Given the description of an element on the screen output the (x, y) to click on. 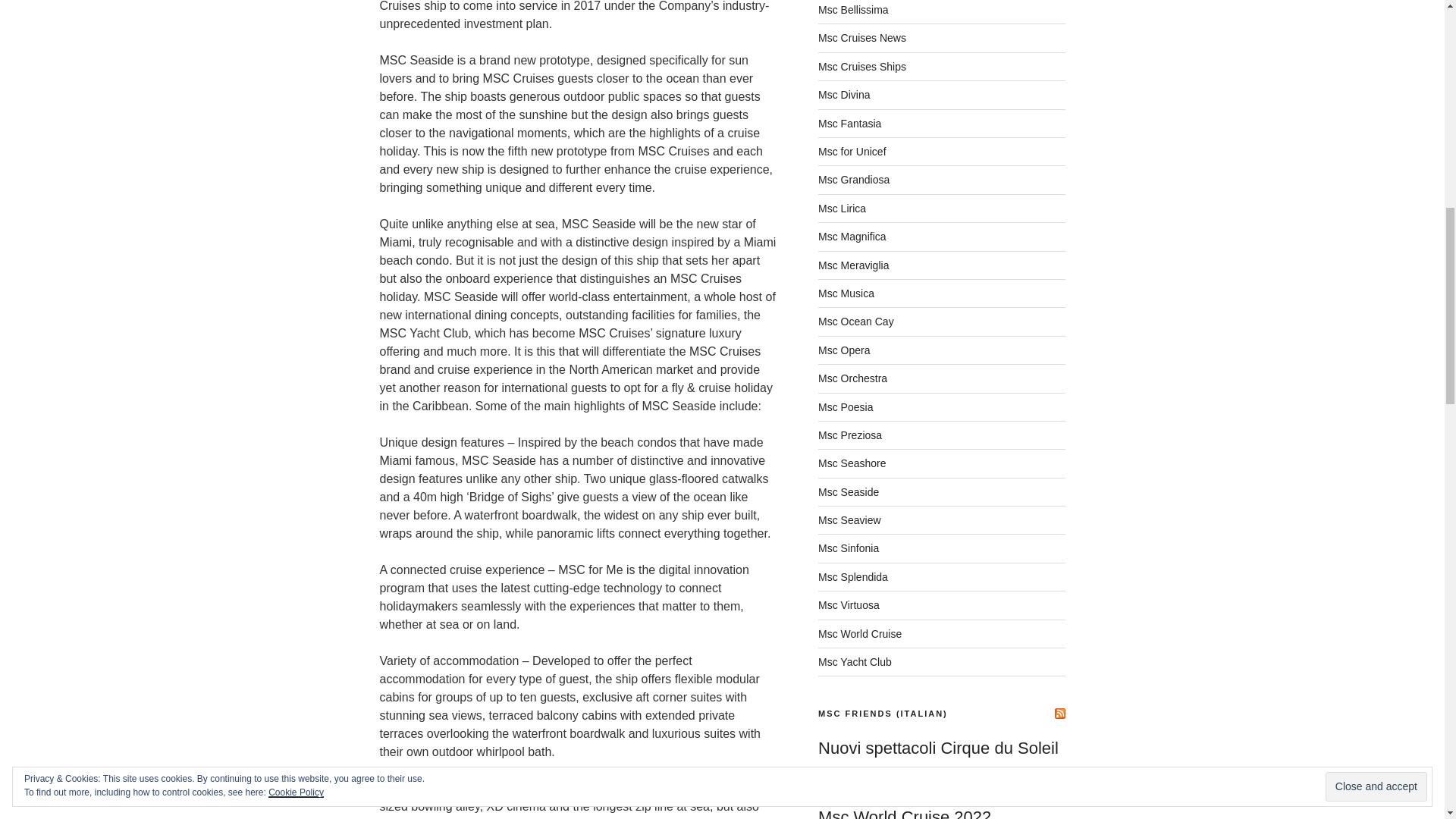
Msc Cruises Ships Fan Page (861, 66)
Msc Cruises News (861, 37)
Msc Divina (843, 94)
Msc Cruises Ships (861, 66)
Msc Bellissima (853, 9)
Msc Musica (846, 293)
Msc Lirica (842, 208)
Msc Grandiosa (853, 179)
Msc Magnifica (851, 236)
Msc Meraviglia (853, 265)
Msc for Unicef (851, 151)
Msc Divina (843, 94)
Msc for Unicef (851, 151)
Msc Cruises News (861, 37)
Msc Bellissima (853, 9)
